Given the description of an element on the screen output the (x, y) to click on. 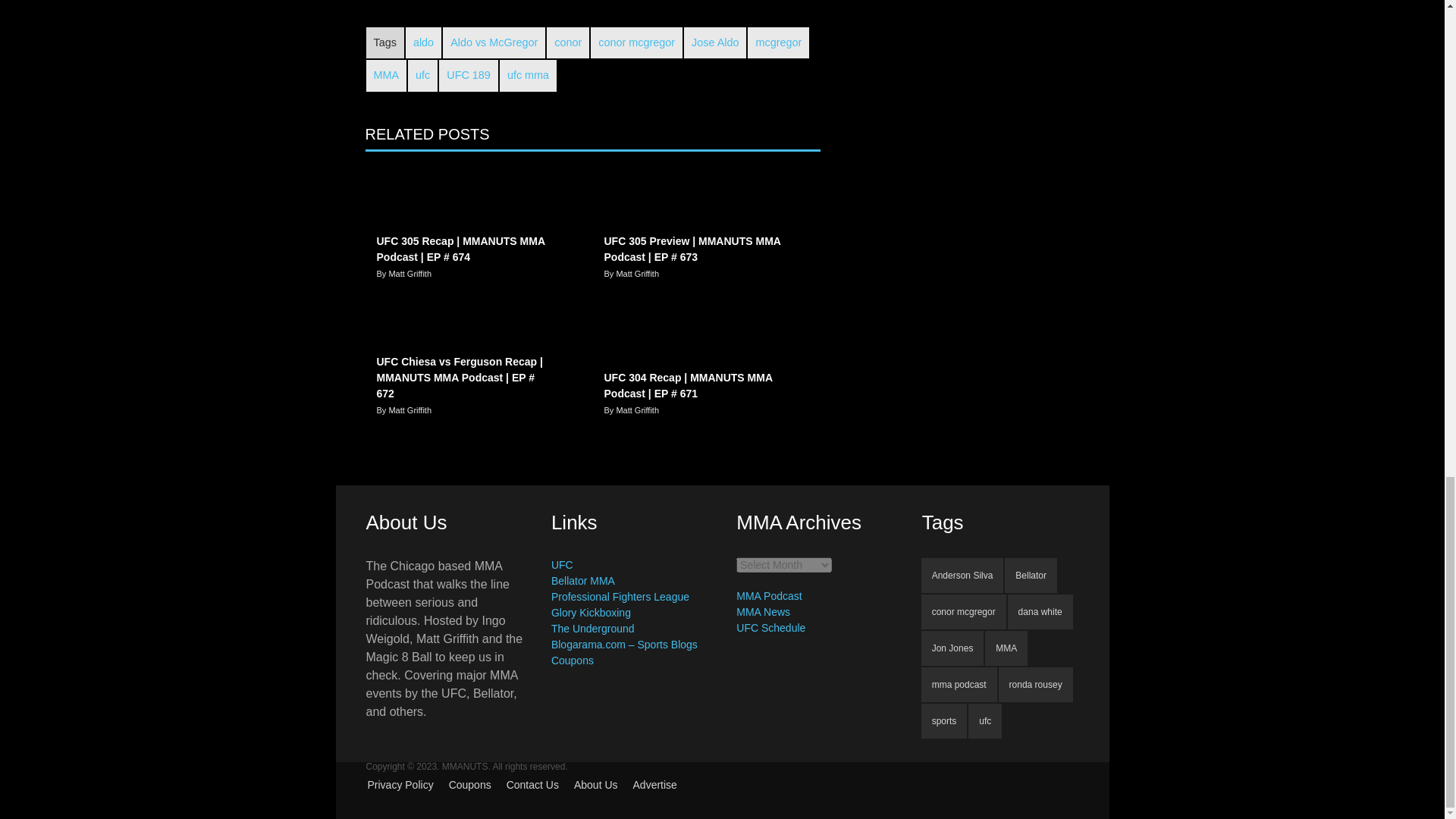
aldo (423, 42)
MMA (385, 75)
conor (568, 42)
conor mcgregor (636, 42)
mcgregor (778, 42)
Aldo vs McGregor (493, 42)
Jose Aldo (714, 42)
